Given the description of an element on the screen output the (x, y) to click on. 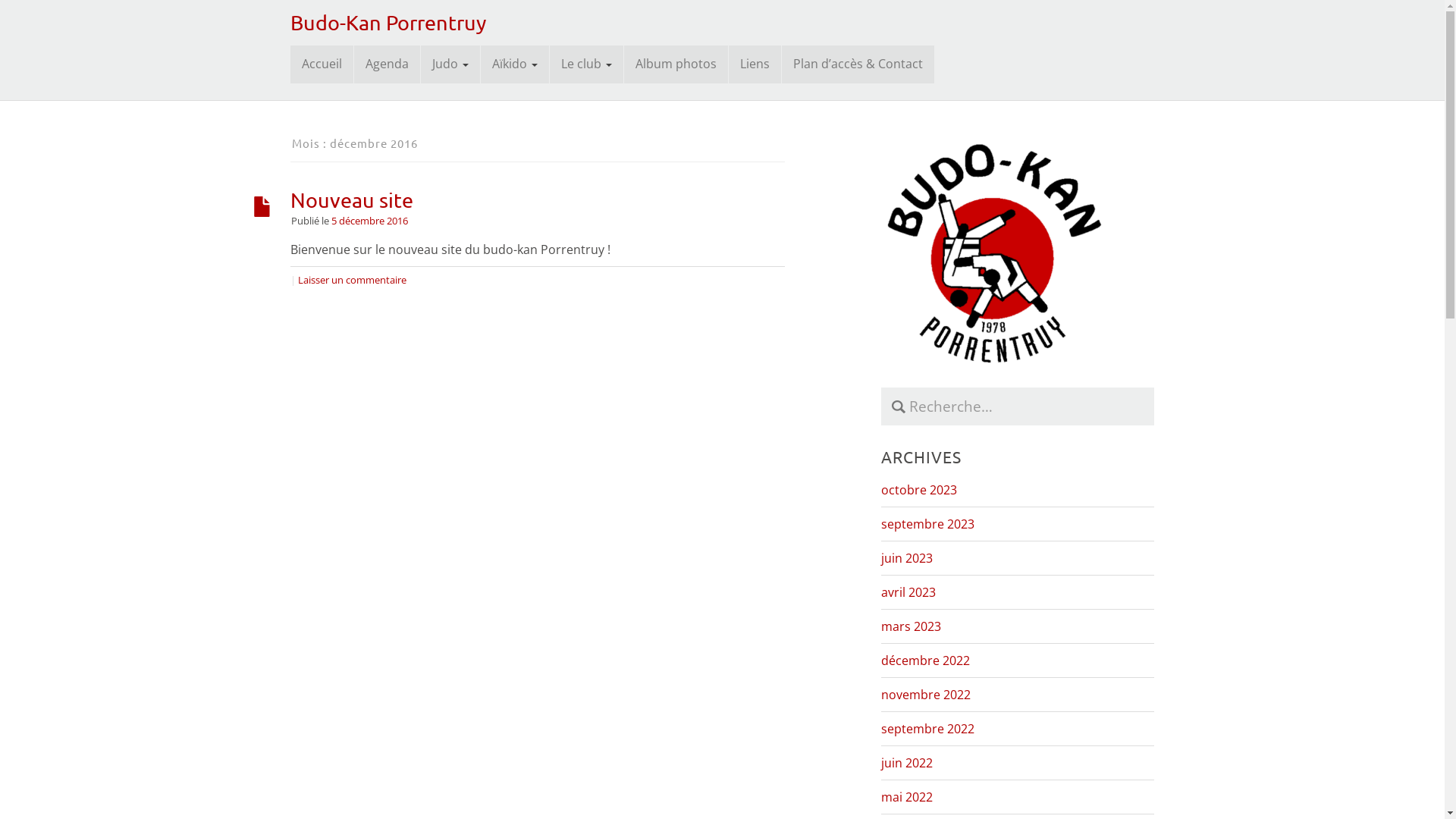
Nouveau site Element type: text (350, 199)
octobre 2023 Element type: text (919, 489)
novembre 2022 Element type: text (925, 694)
avril 2023 Element type: text (908, 591)
juin 2023 Element type: text (906, 557)
Agenda Element type: text (386, 64)
juin 2022 Element type: text (906, 762)
Judo Element type: text (449, 64)
Budo-Kan Porrentruy Element type: text (387, 21)
Le club Element type: text (585, 64)
mai 2022 Element type: text (906, 796)
septembre 2023 Element type: text (927, 523)
Album photos Element type: text (675, 64)
septembre 2022 Element type: text (927, 728)
Laisser un commentaire Element type: text (351, 279)
mars 2023 Element type: text (911, 626)
Liens Element type: text (754, 64)
Accueil Element type: text (320, 64)
